Given the description of an element on the screen output the (x, y) to click on. 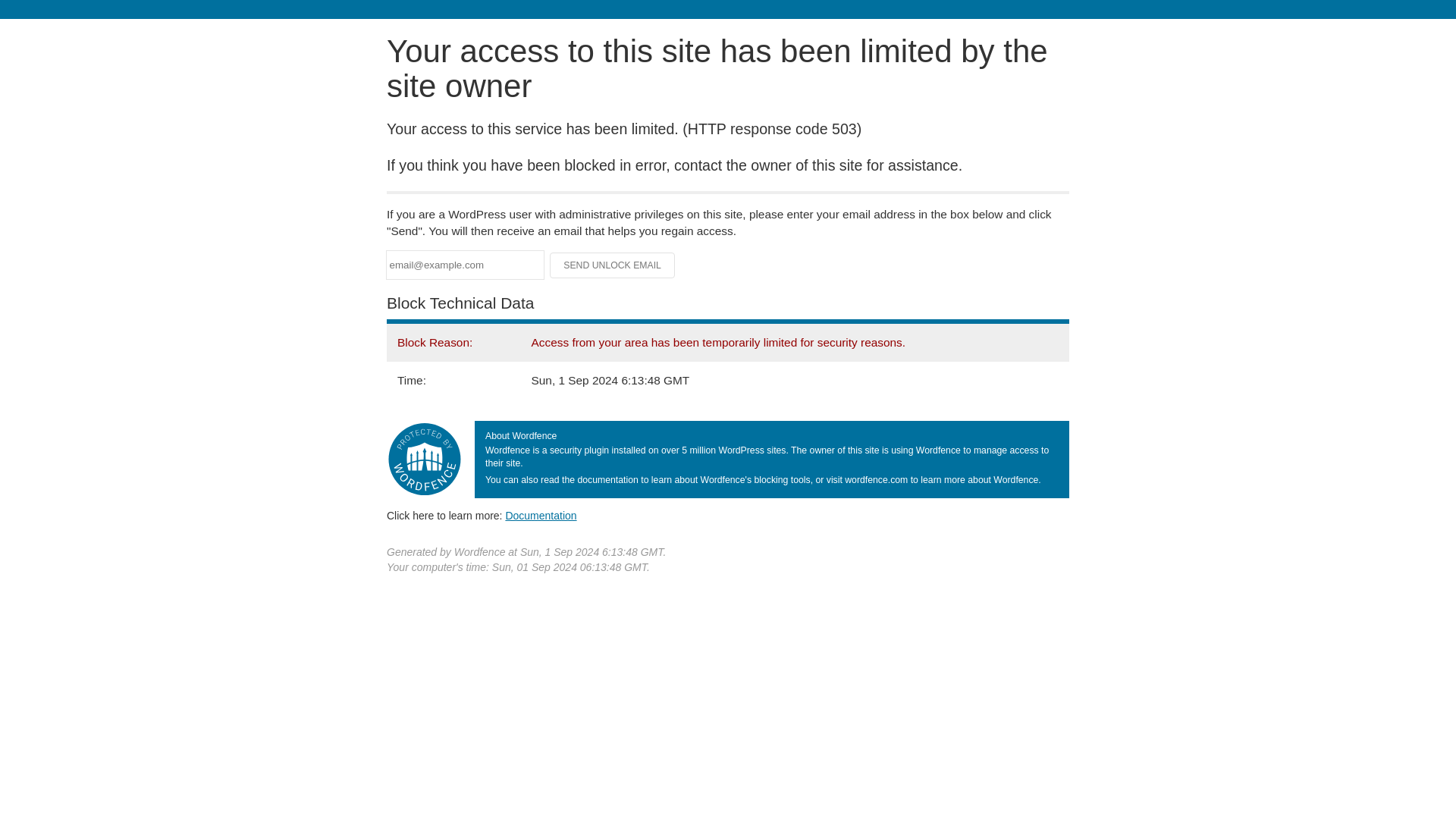
Send Unlock Email (612, 265)
Send Unlock Email (612, 265)
Documentation (540, 515)
